Given the description of an element on the screen output the (x, y) to click on. 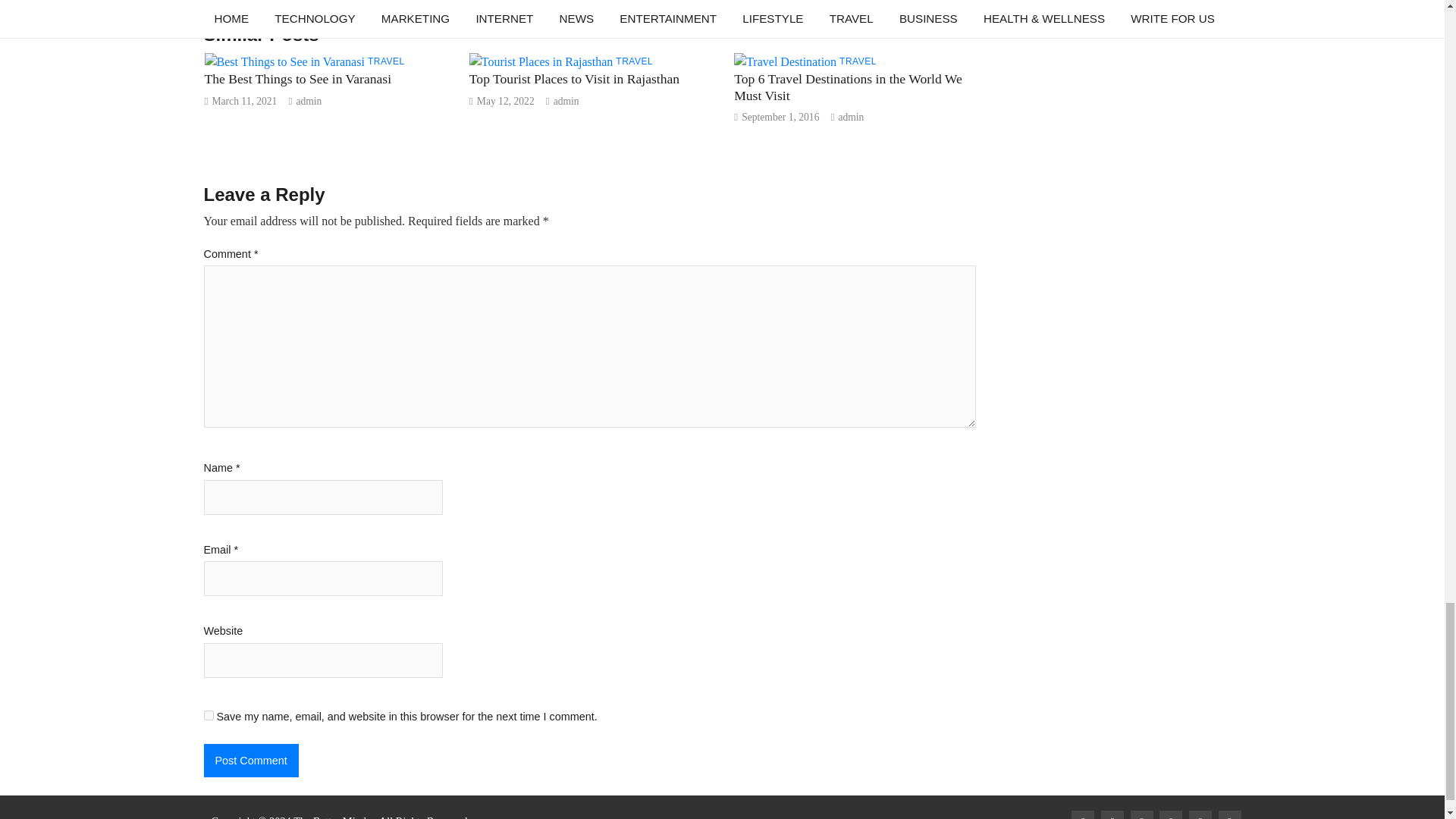
Post Comment (250, 760)
yes (207, 715)
